Given the description of an element on the screen output the (x, y) to click on. 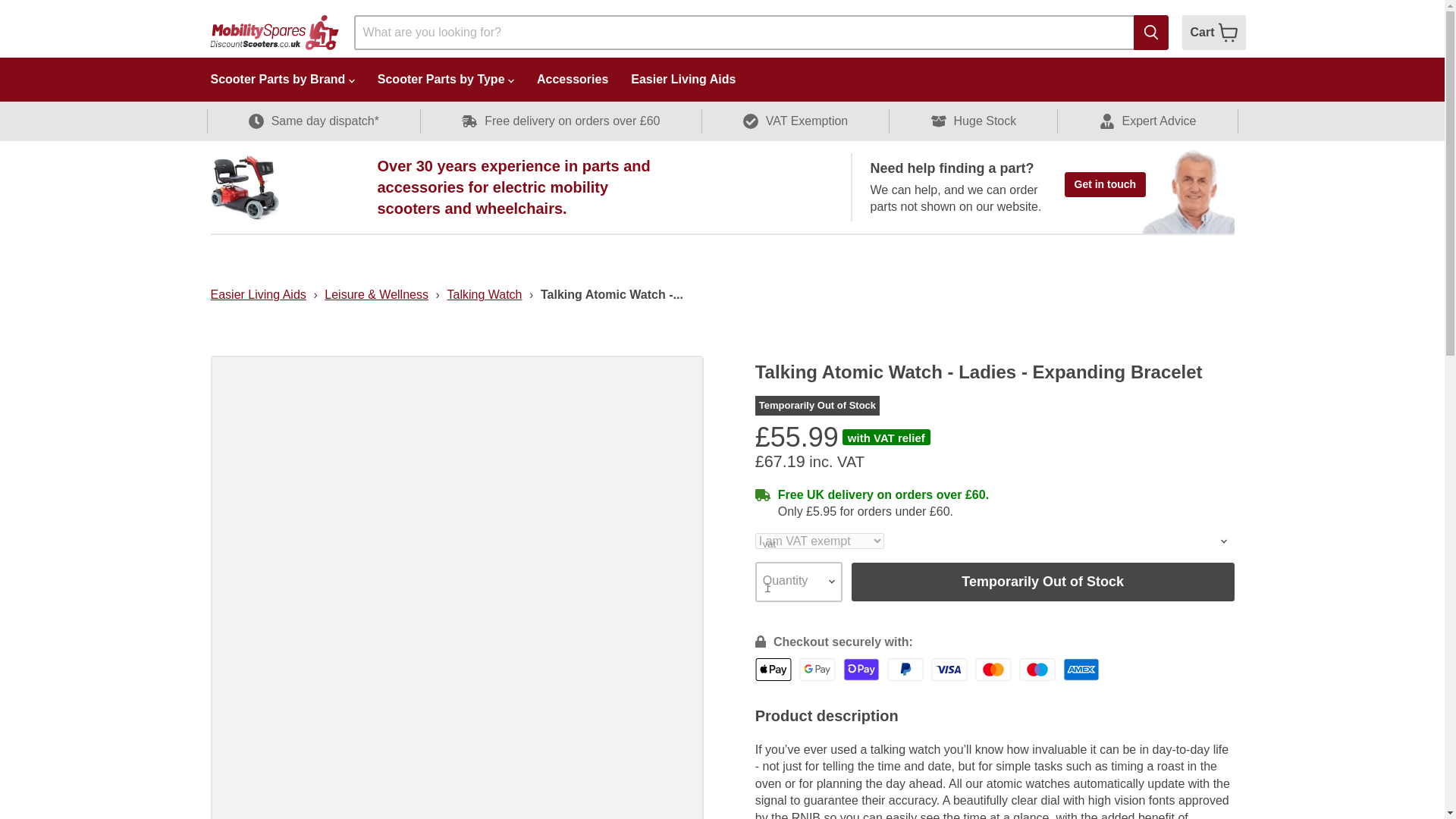
Visa (949, 669)
Maestro (1037, 669)
Cart (1213, 32)
Talking Watch (483, 294)
PayPal (904, 669)
Shop Pay (861, 669)
Mastercard (993, 669)
Apple Pay (773, 669)
Easier Living Aids (258, 294)
Google Pay (817, 669)
